Given the description of an element on the screen output the (x, y) to click on. 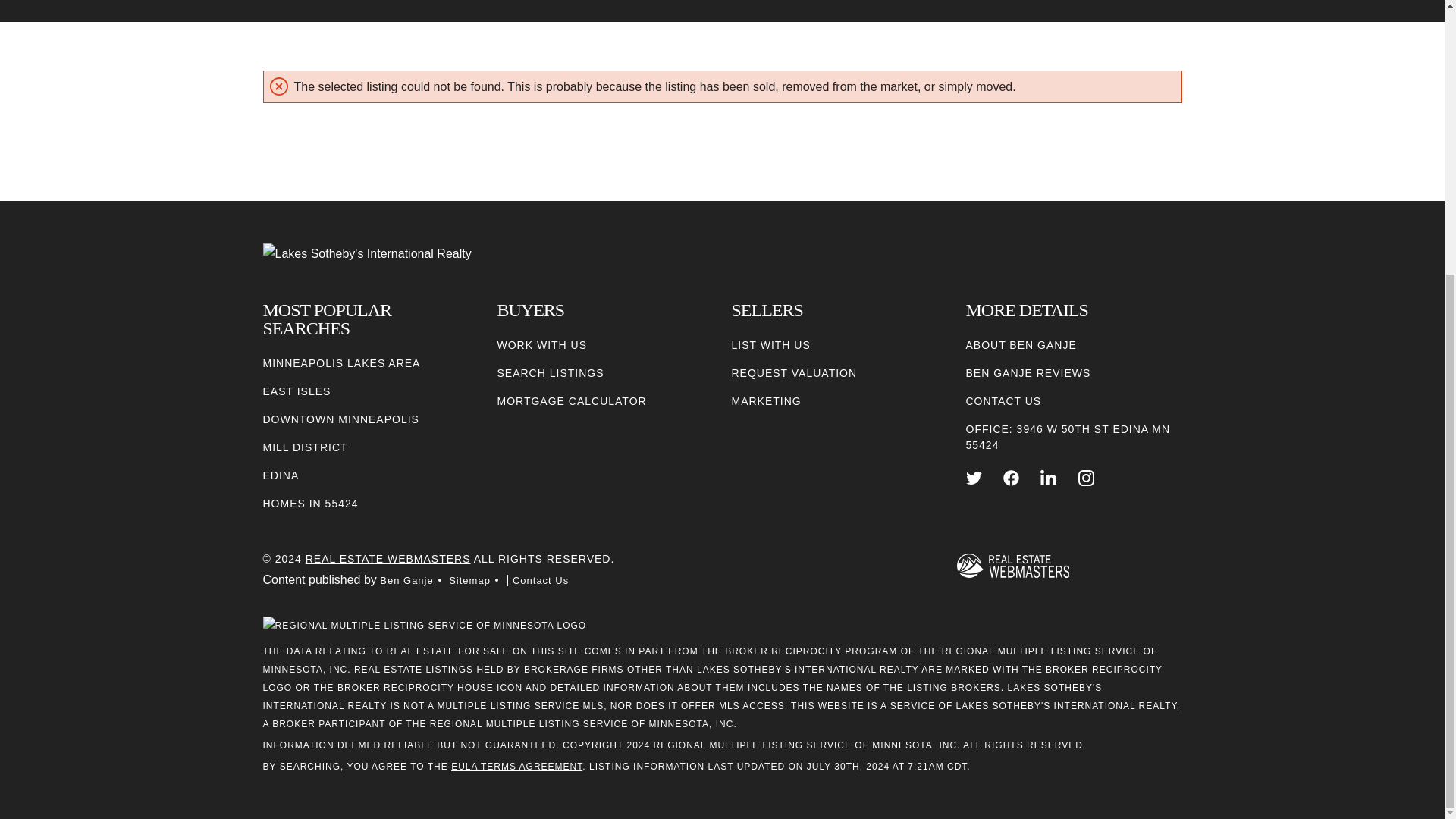
TWITTER (973, 478)
LINKEDIN (1049, 478)
FACEBOOK (1011, 478)
